Given the description of an element on the screen output the (x, y) to click on. 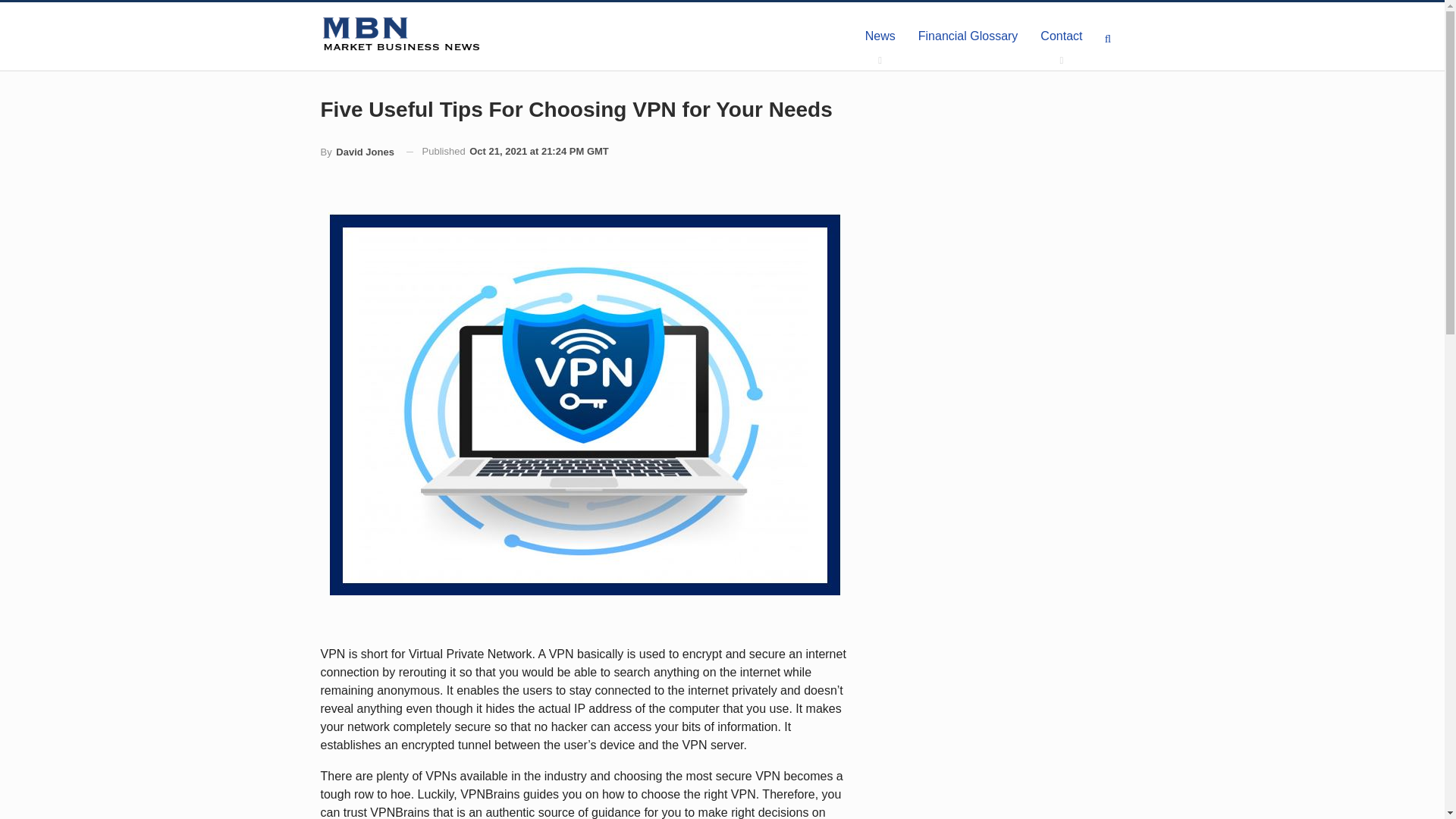
By David Jones (356, 152)
Browse Author Articles (356, 152)
Contact (1061, 36)
Financial Glossary (968, 36)
